Given the description of an element on the screen output the (x, y) to click on. 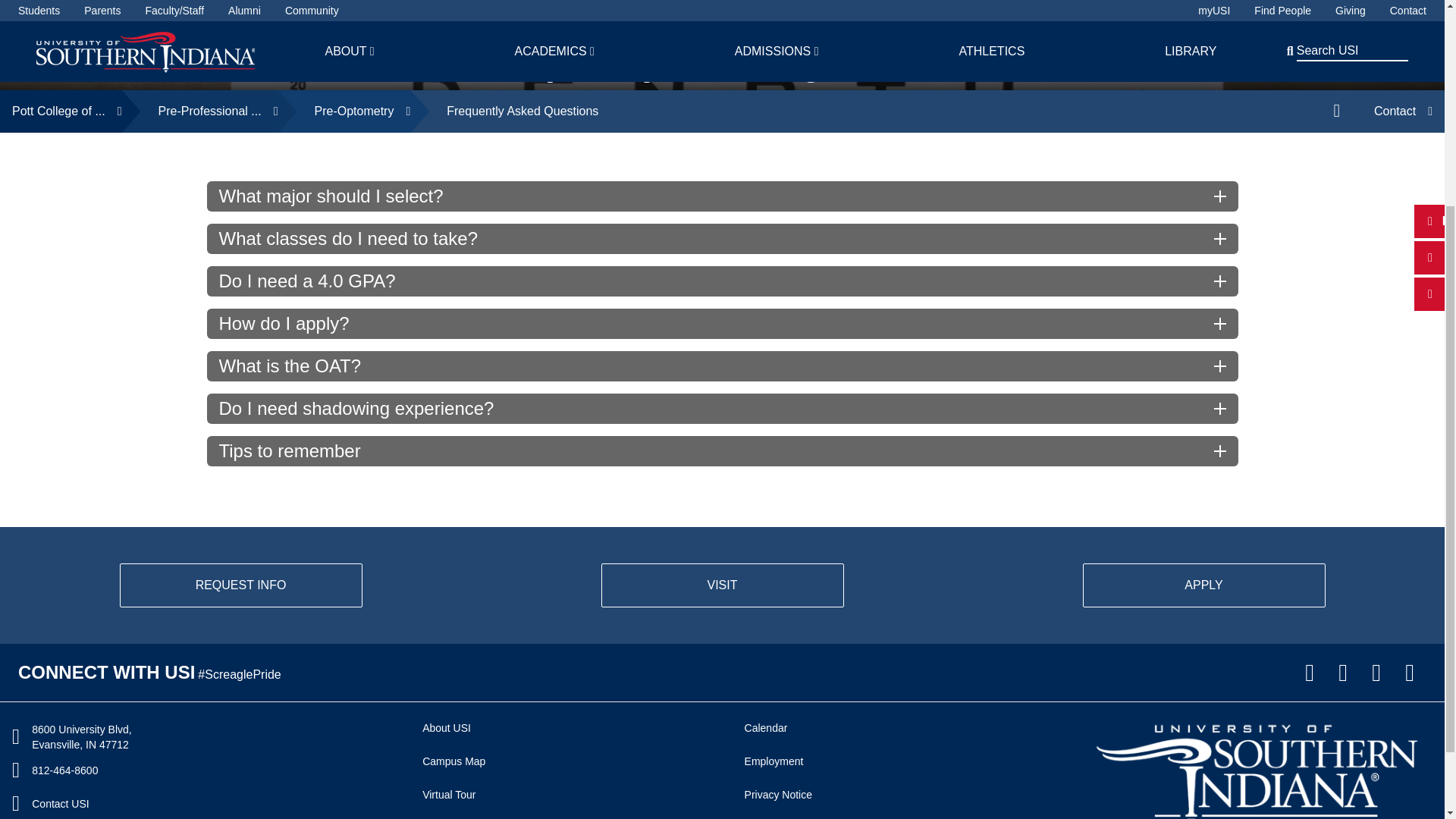
Pott College of Science, Engineering, and Education (61, 111)
Pre-Optometry (344, 111)
Pre-Professional Studies (200, 111)
